Given the description of an element on the screen output the (x, y) to click on. 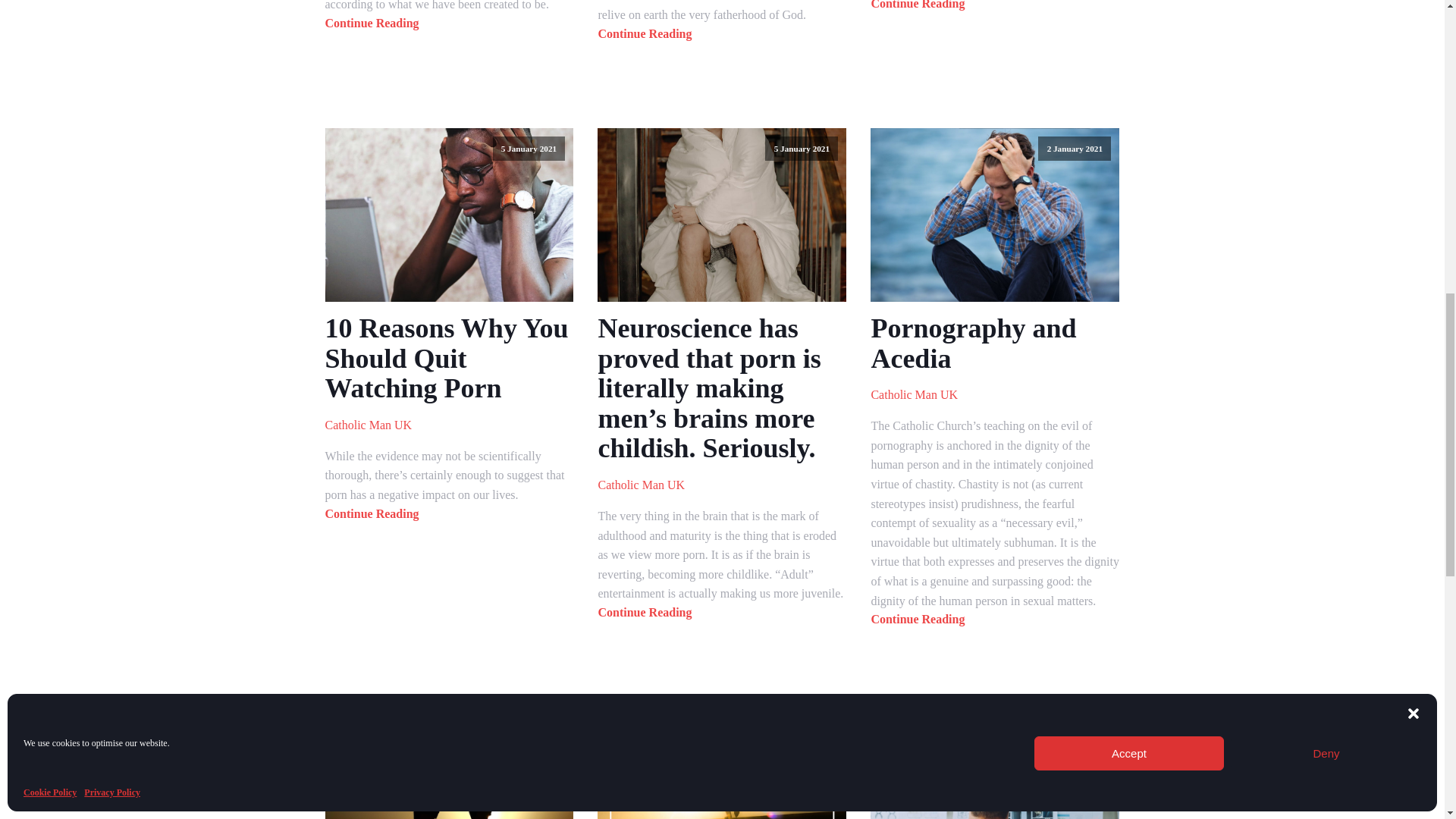
Continue Reading (371, 22)
5 January 2021 (448, 214)
Continue Reading (916, 4)
Continue Reading (643, 33)
10 Reasons Why You Should Quit Watching Porn (448, 358)
